Given the description of an element on the screen output the (x, y) to click on. 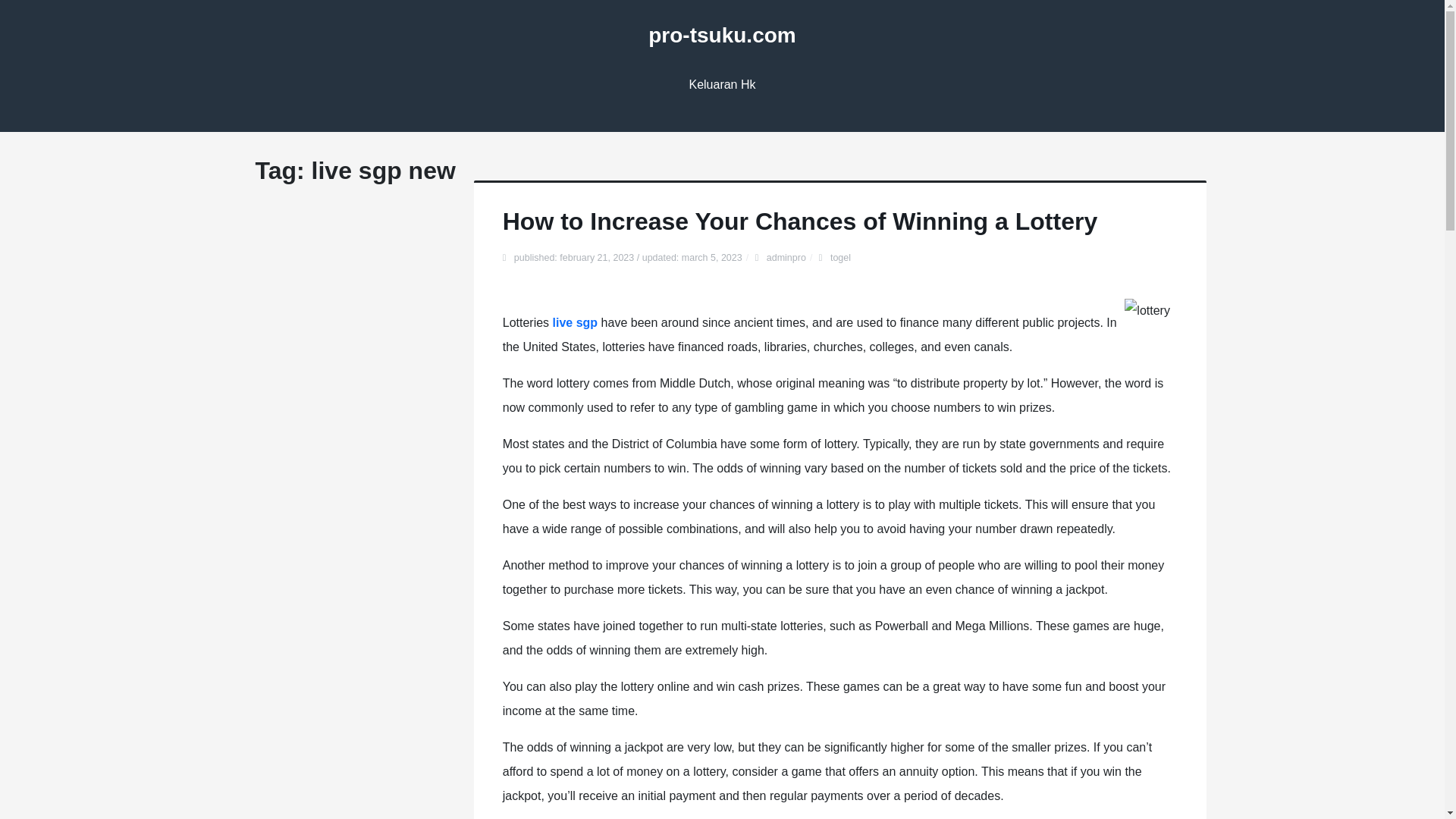
live sgp (575, 322)
Keluaran Hk (721, 84)
Keluaran Hk (721, 84)
adminpro (786, 257)
togel (839, 257)
pro-tsuku.com (720, 34)
How to Increase Your Chances of Winning a Lottery (799, 221)
